Given the description of an element on the screen output the (x, y) to click on. 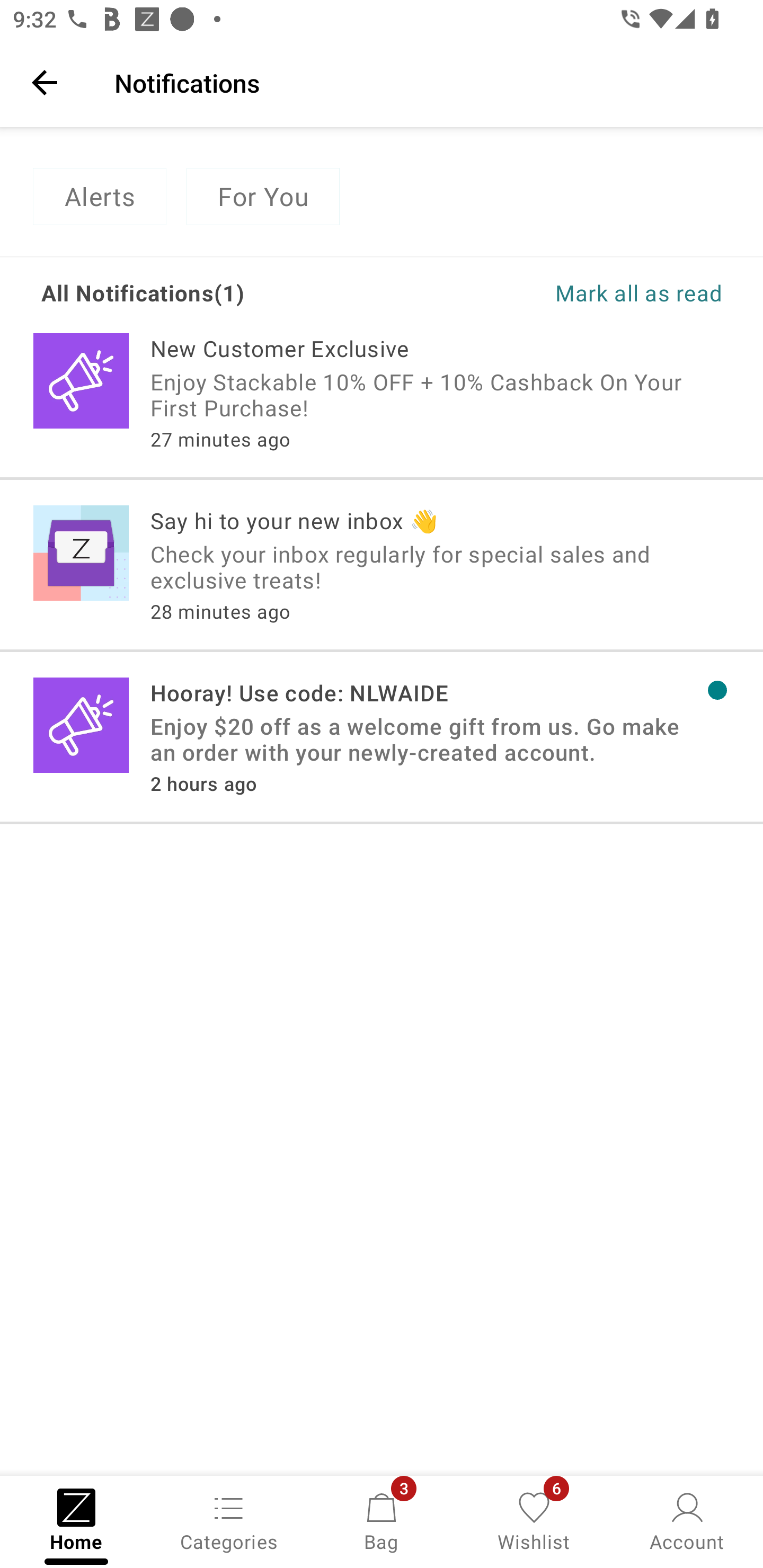
Navigate up (44, 82)
Notifications (426, 82)
Alerts (99, 196)
For You (262, 196)
Mark all as read (551, 292)
Categories (228, 1519)
Bag, 3 new notifications Bag (381, 1519)
Wishlist, 6 new notifications Wishlist (533, 1519)
Account (686, 1519)
